Given the description of an element on the screen output the (x, y) to click on. 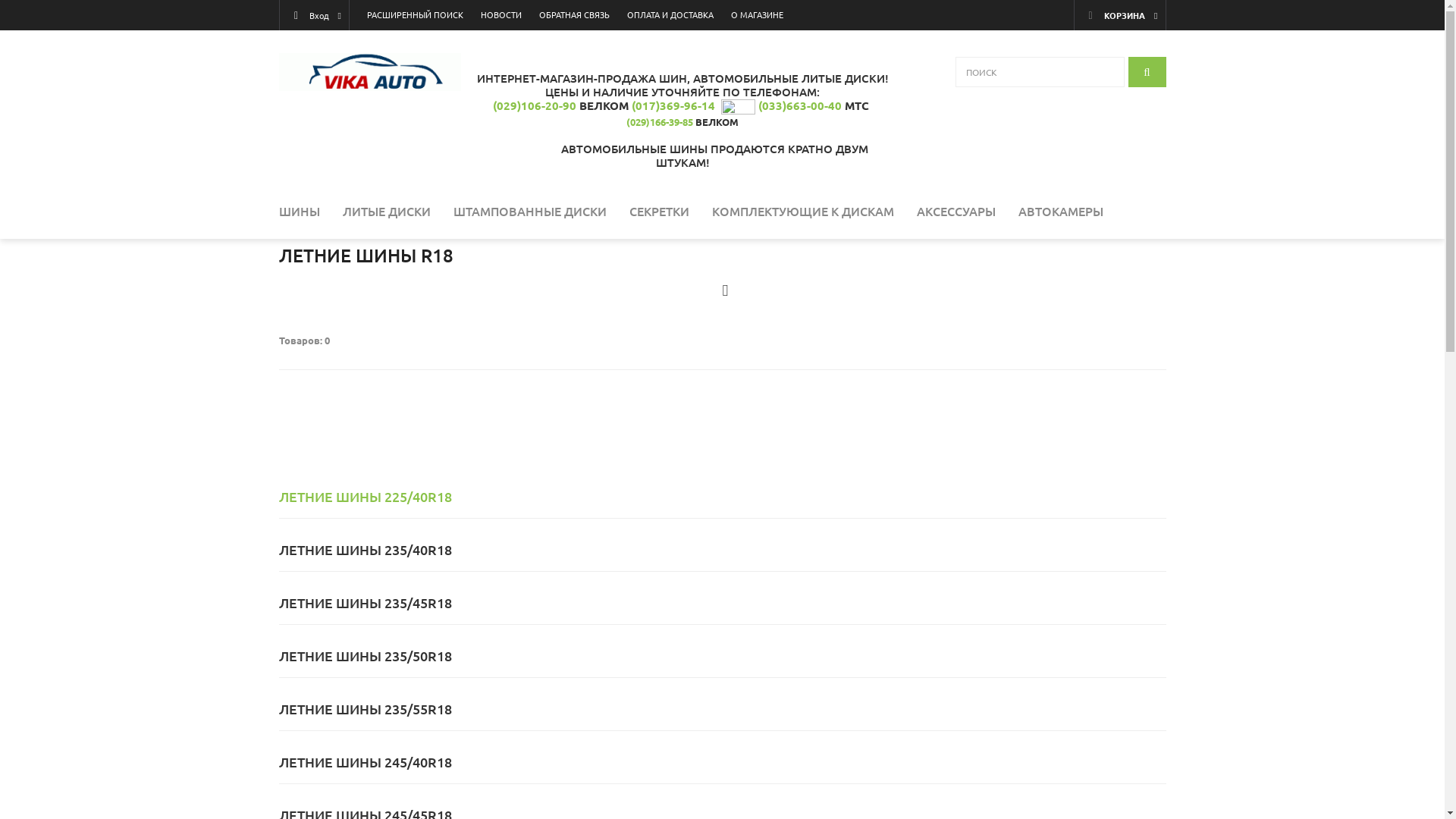
(033)663-00-40 Element type: text (799, 104)
(029)166-39-85 Element type: text (659, 121)
(029)106-20-90 Element type: text (534, 104)
(017)369-96-14 Element type: text (673, 104)
